Given the description of an element on the screen output the (x, y) to click on. 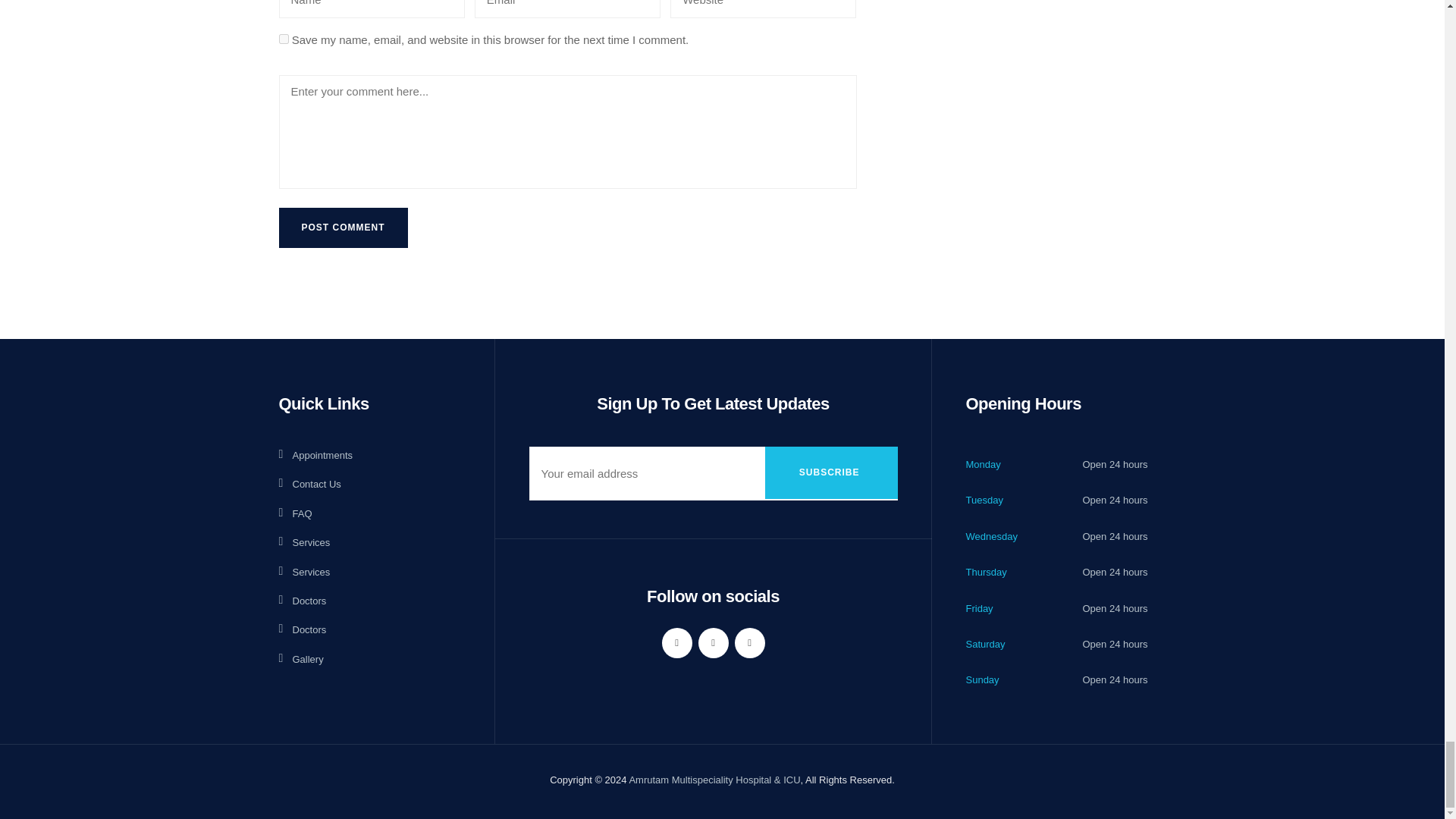
Appointments (316, 455)
yes (283, 39)
Post Comment (343, 228)
Contact Us (309, 484)
FAQ (296, 513)
Post Comment (343, 228)
